Given the description of an element on the screen output the (x, y) to click on. 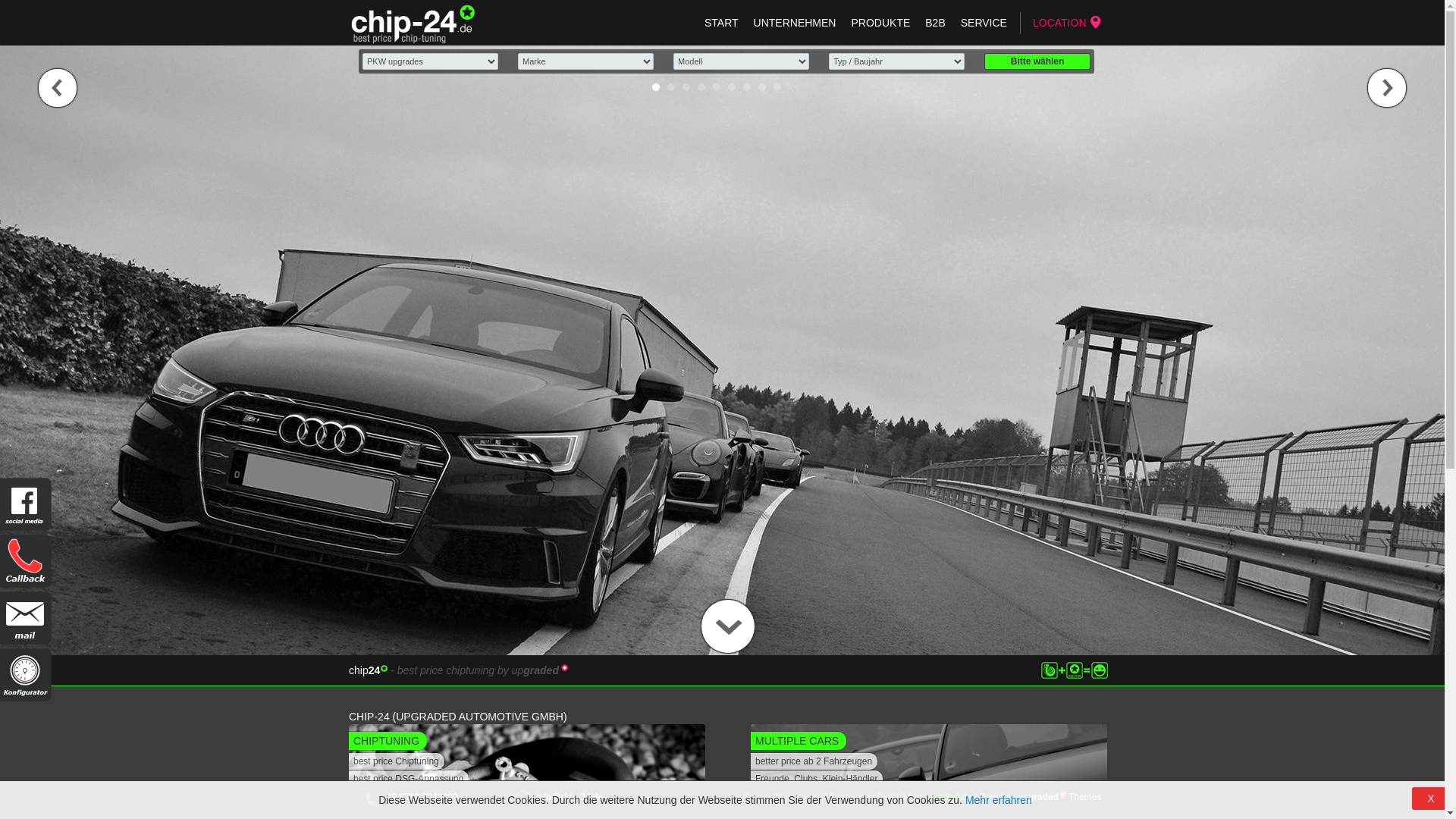
X Element type: text (1430, 798)
SERVICE Element type: text (983, 22)
upgraded Element type: hover (564, 667)
chip24 Element type: hover (383, 668)
UNTERNEHMEN Element type: text (795, 22)
START Element type: text (721, 22)
B2B Element type: text (934, 22)
Mehr erfahren Element type: text (998, 799)
LOCATION Element type: text (1063, 22)
upgraded.de Element type: text (945, 796)
Premium upgraded Themes Element type: text (1040, 796)
info@chip-24.de Element type: text (569, 796)
upgraded Element type: hover (1062, 793)
PRODUKTE Element type: text (880, 22)
